Given the description of an element on the screen output the (x, y) to click on. 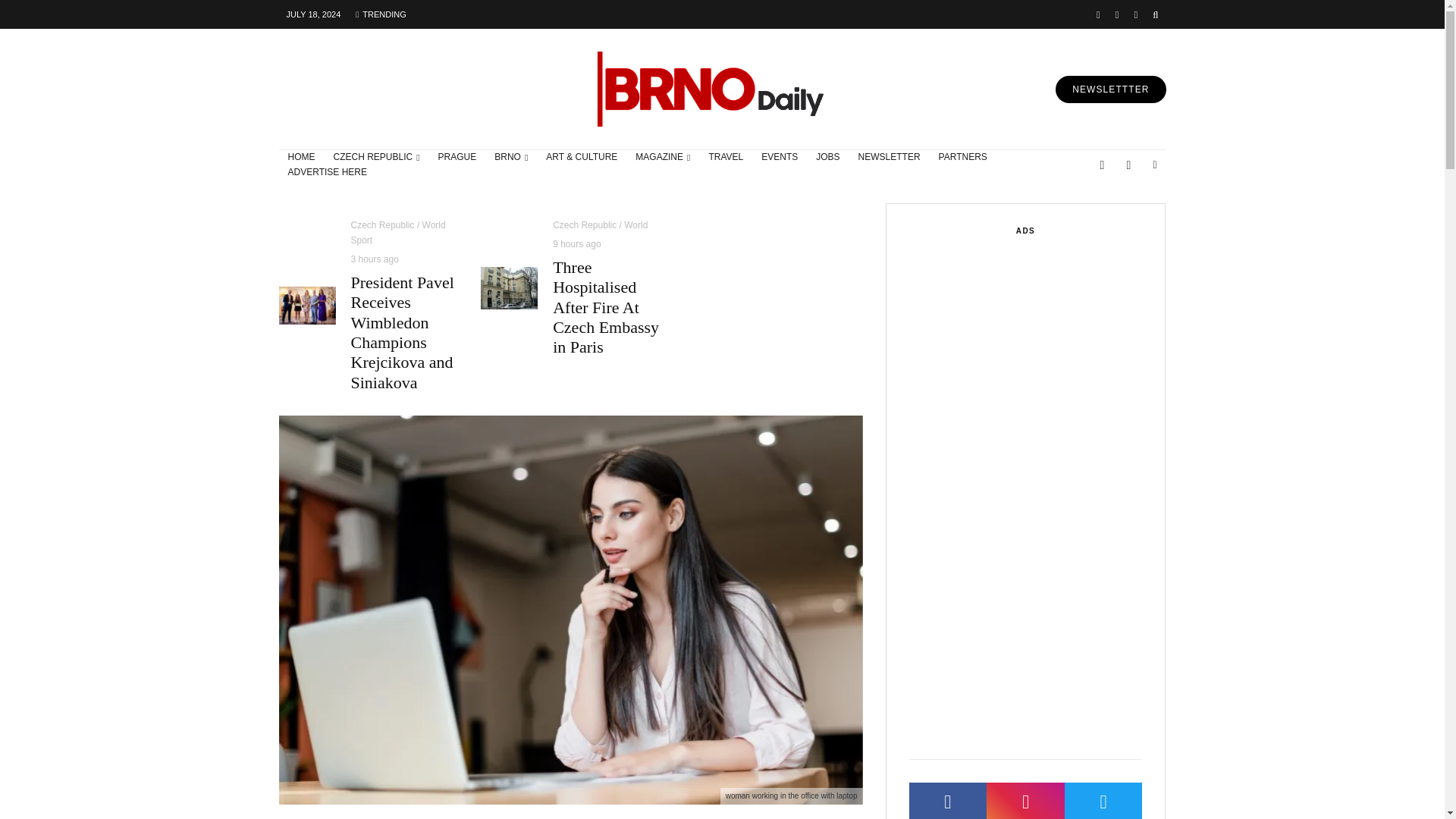
HOME (301, 157)
PRAGUE (457, 157)
NEWSLETTTER (1110, 89)
CZECH REPUBLIC (376, 157)
TRENDING (380, 14)
